Given the description of an element on the screen output the (x, y) to click on. 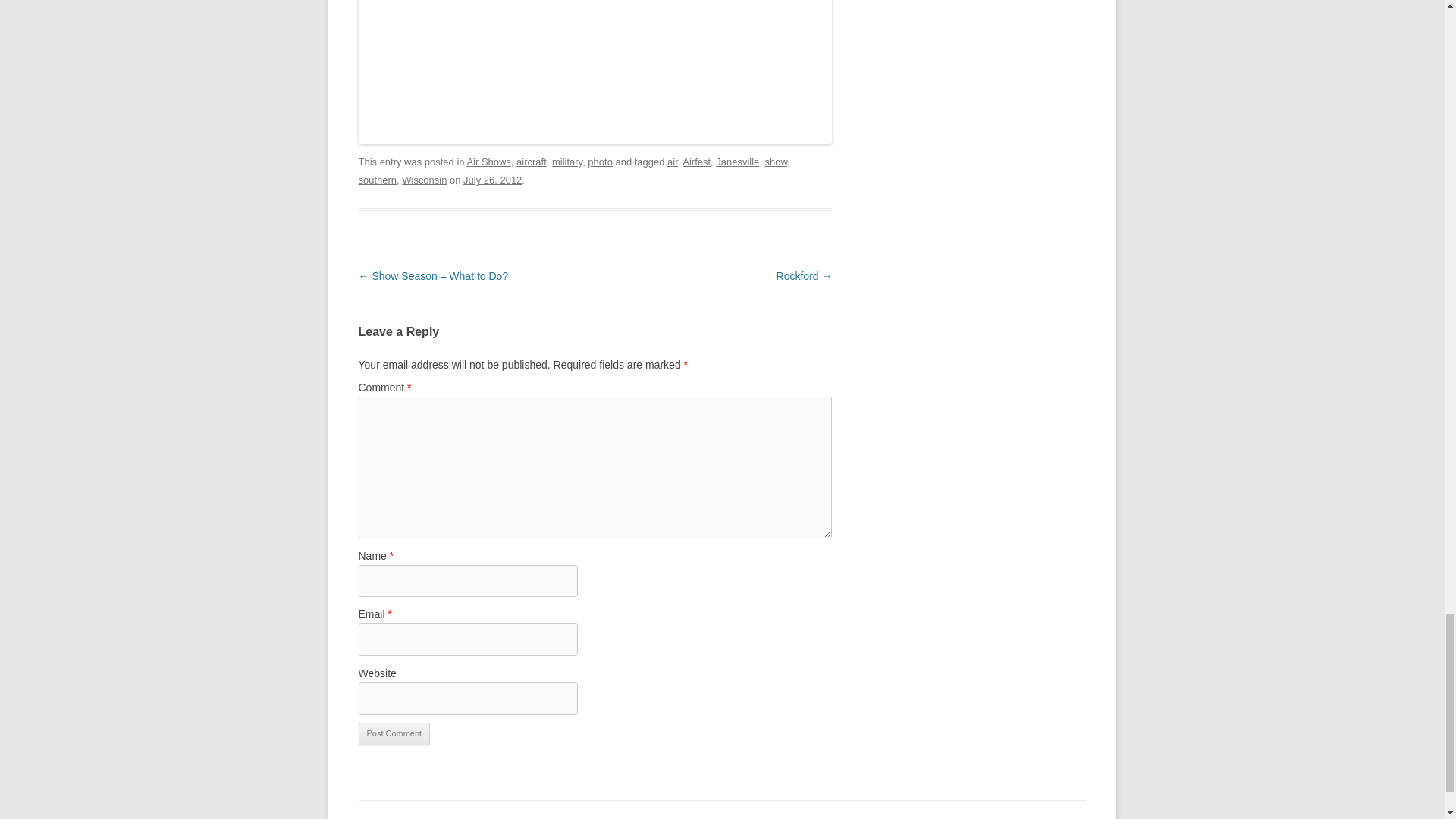
Janesville (737, 161)
July 26, 2012 (492, 179)
photo (600, 161)
Air Shows (488, 161)
Wisconsin (423, 179)
show (776, 161)
aircraft (531, 161)
wpid4037-C59F0509.jpg (594, 72)
Airfest (696, 161)
southern (377, 179)
